Given the description of an element on the screen output the (x, y) to click on. 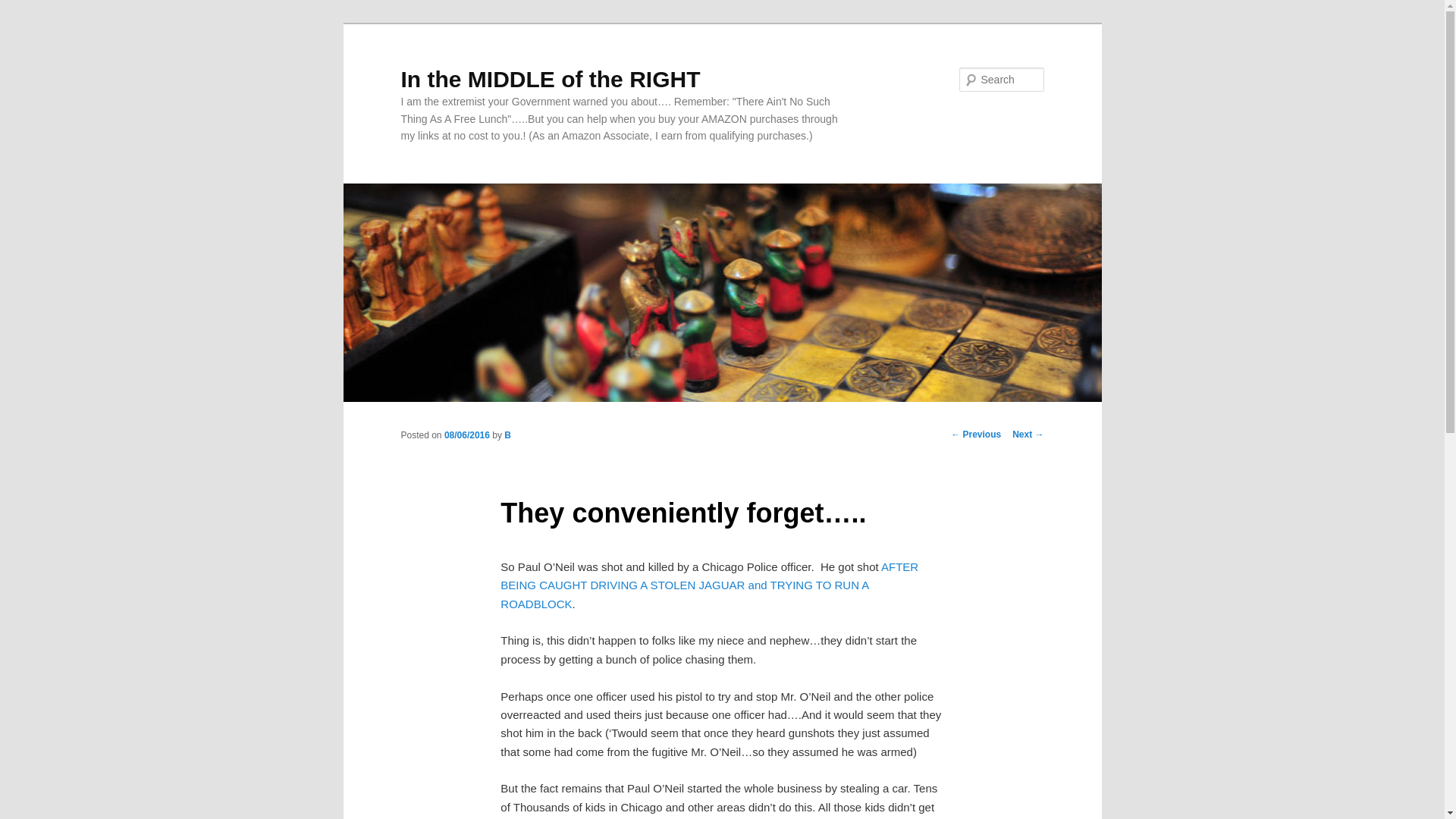
B (507, 434)
Search (24, 8)
View all posts by B (507, 434)
In the MIDDLE of the RIGHT (550, 78)
19:59 (466, 434)
